Given the description of an element on the screen output the (x, y) to click on. 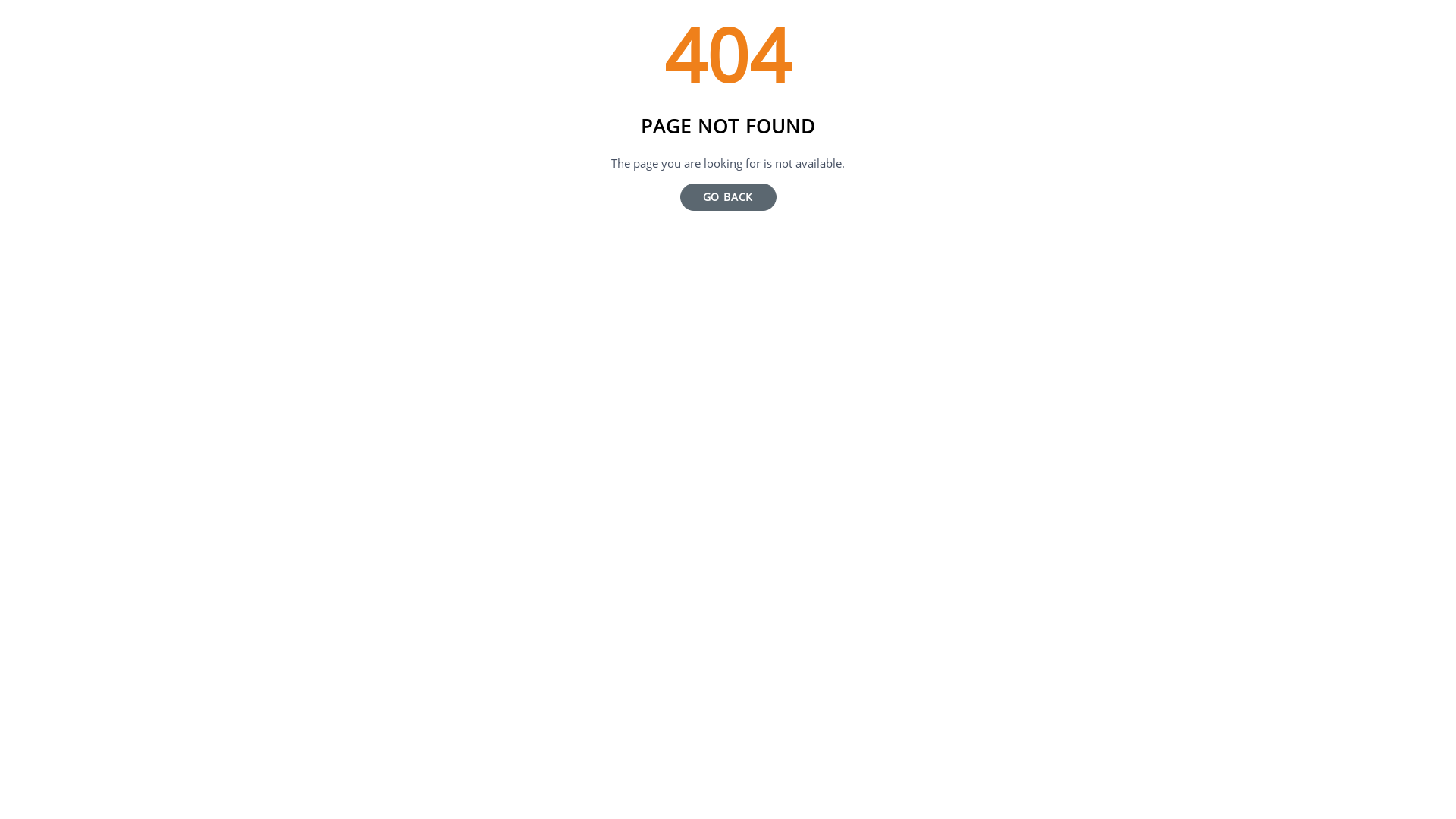
GO BACK Element type: text (727, 196)
